Given the description of an element on the screen output the (x, y) to click on. 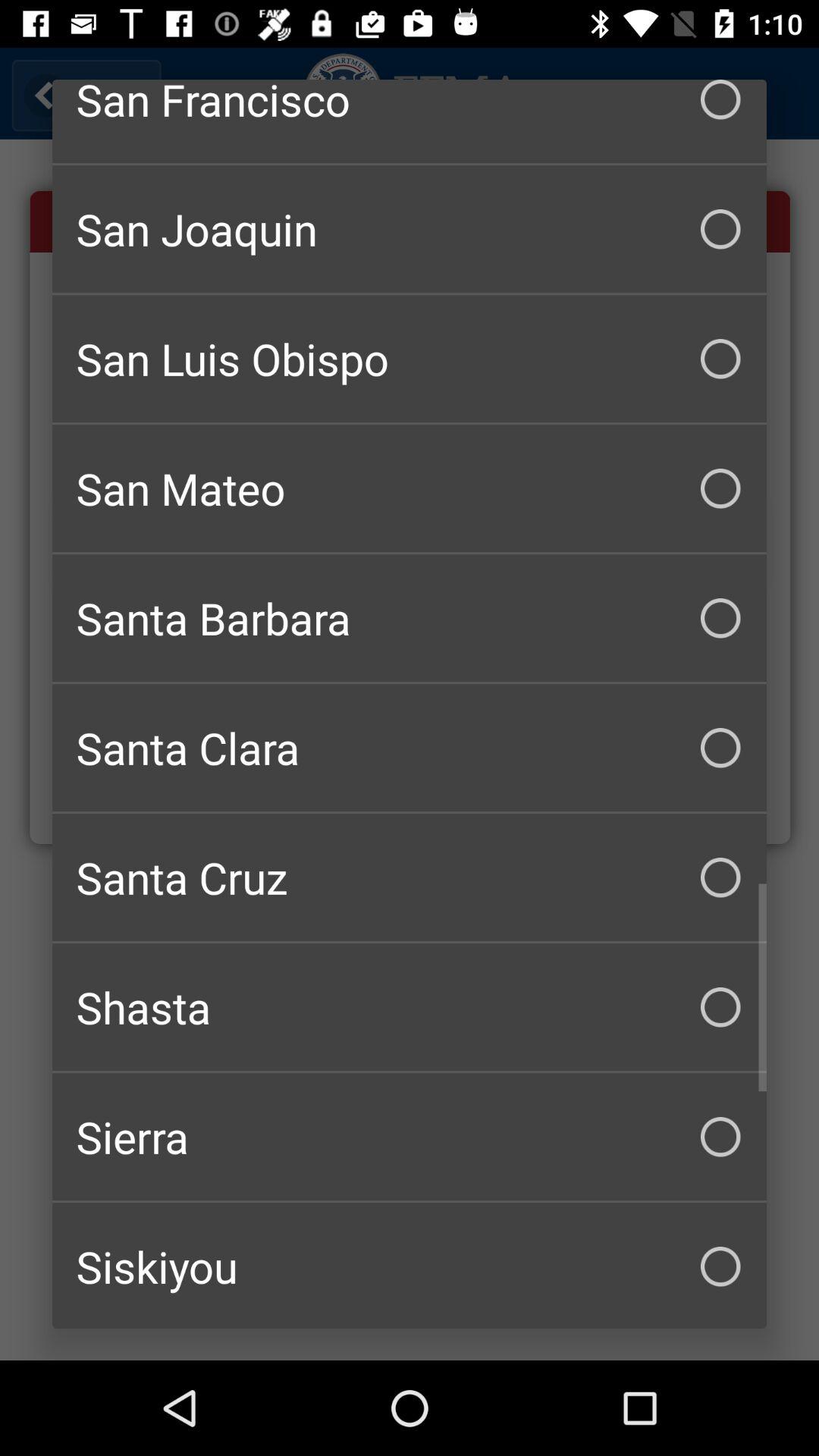
choose the san joaquin checkbox (409, 228)
